Given the description of an element on the screen output the (x, y) to click on. 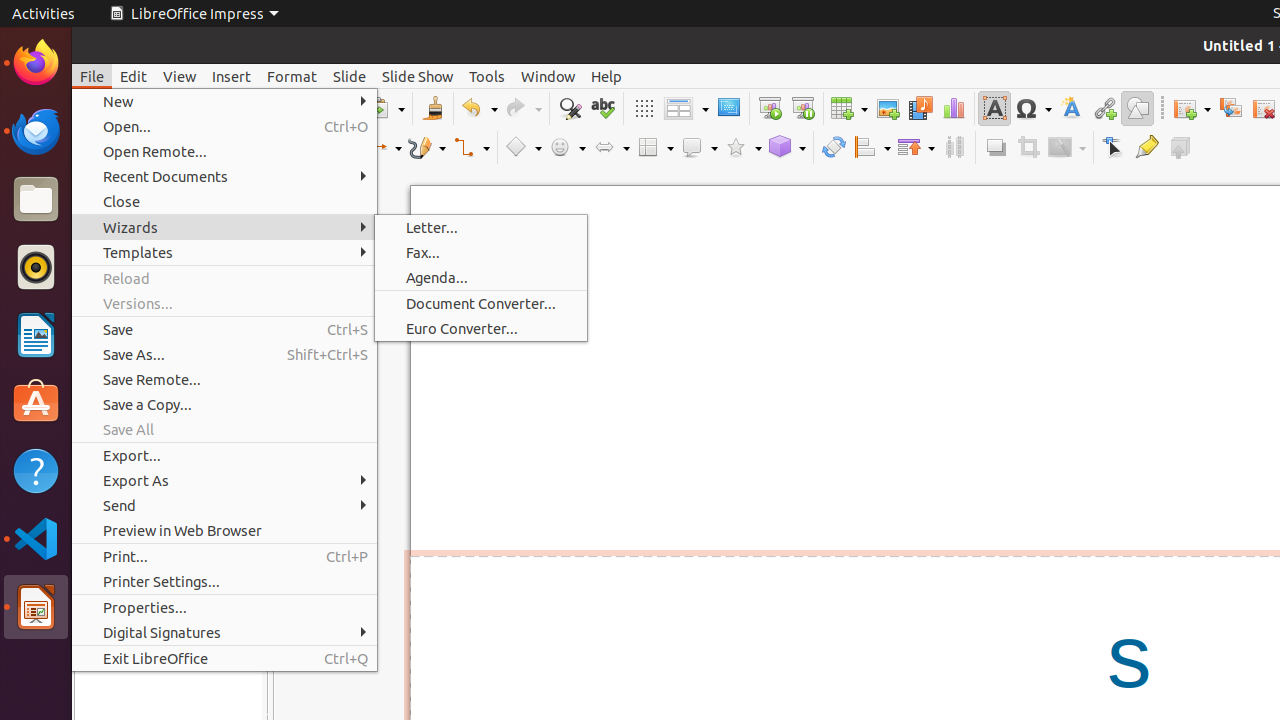
New Element type: menu (224, 101)
Export... Element type: menu-item (224, 455)
LibreOffice Impress Element type: menu (193, 13)
Agenda... Element type: menu-item (481, 277)
Tools Element type: menu (487, 76)
